Given the description of an element on the screen output the (x, y) to click on. 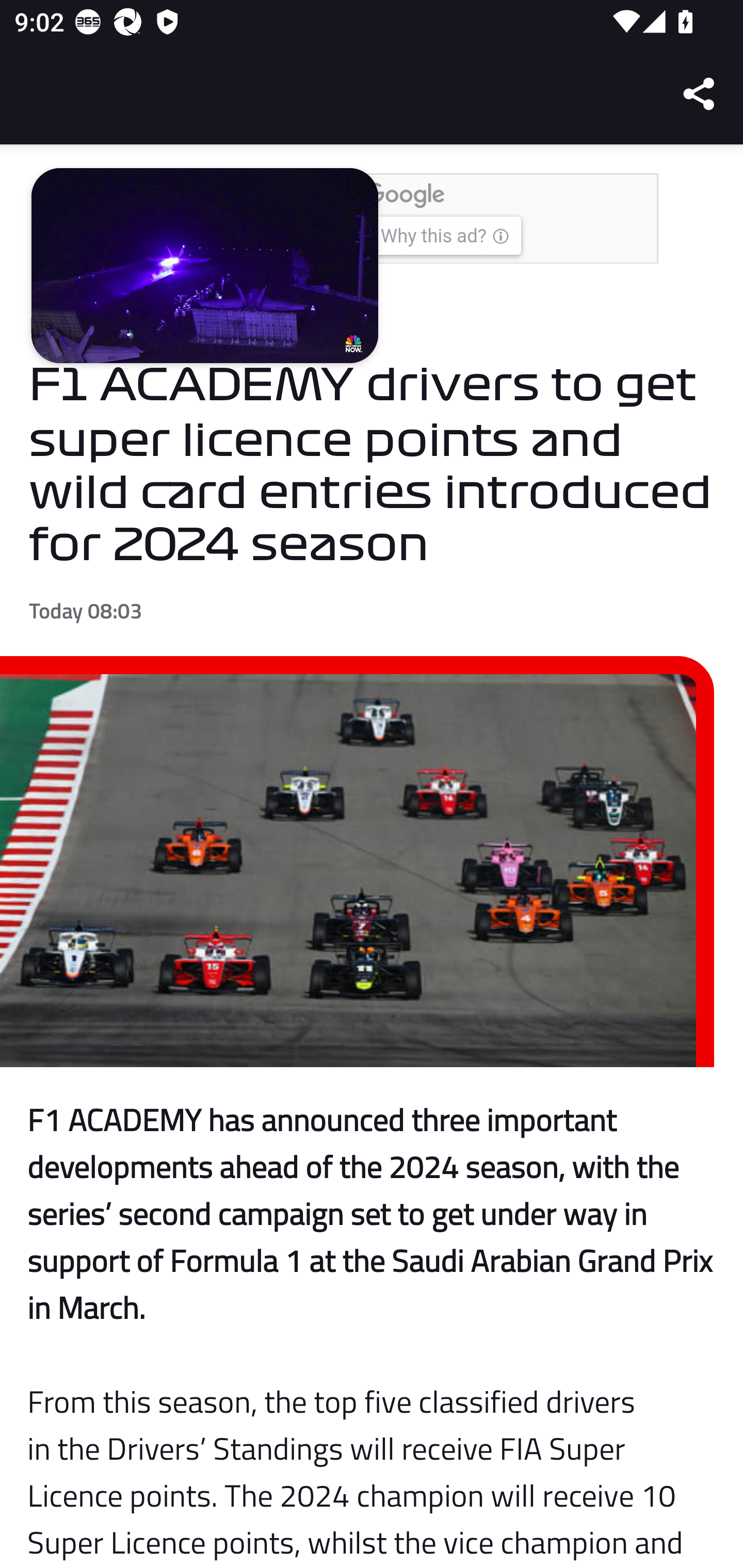
Share (699, 93)
